Given the description of an element on the screen output the (x, y) to click on. 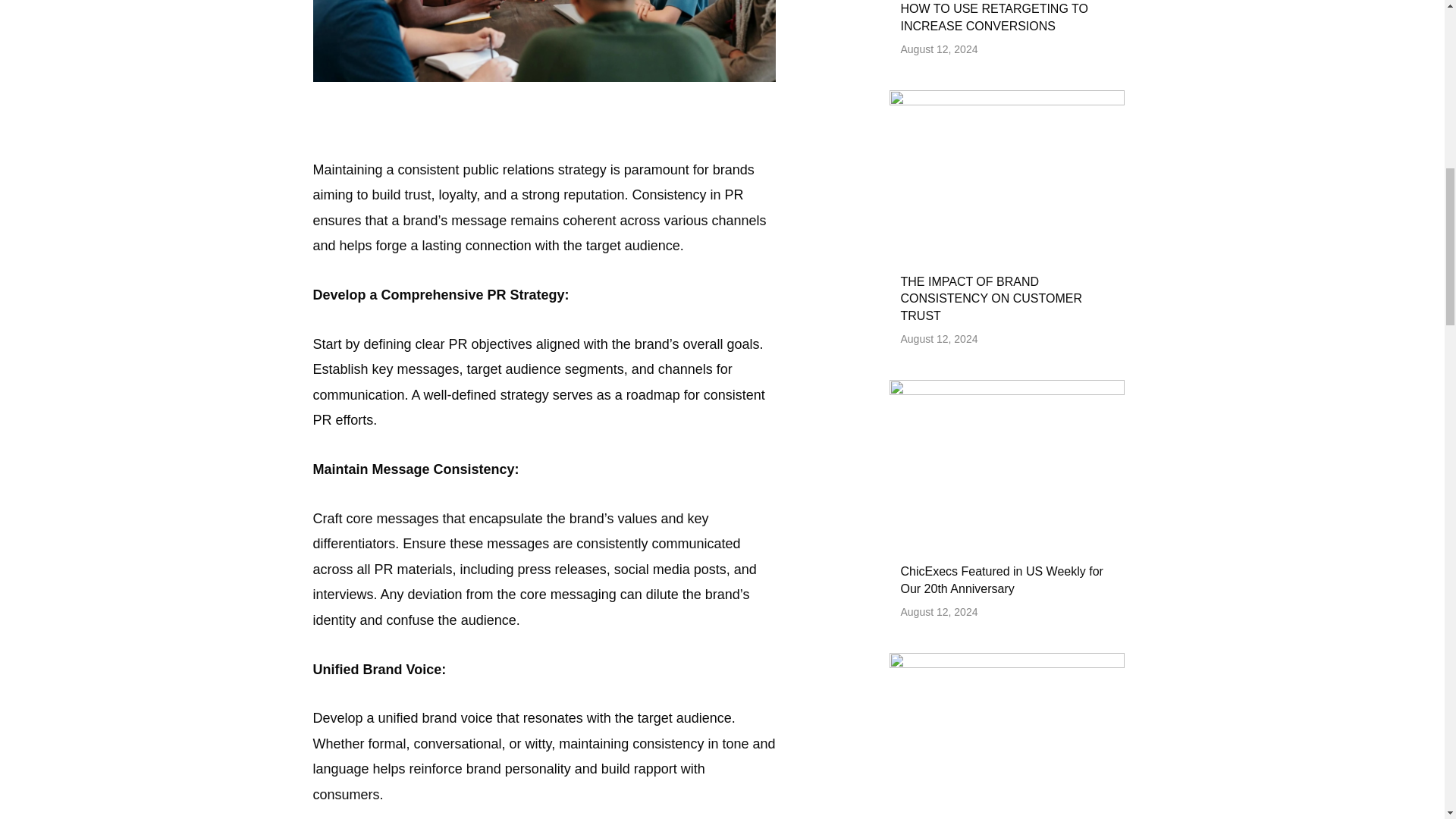
HOW TO USE RETARGETING TO INCREASE CONVERSIONS (994, 16)
THE IMPACT OF BRAND CONSISTENCY ON CUSTOMER TRUST (991, 298)
ChicExecs Featured in US Weekly for Our 20th Anniversary (1002, 579)
